Given the description of an element on the screen output the (x, y) to click on. 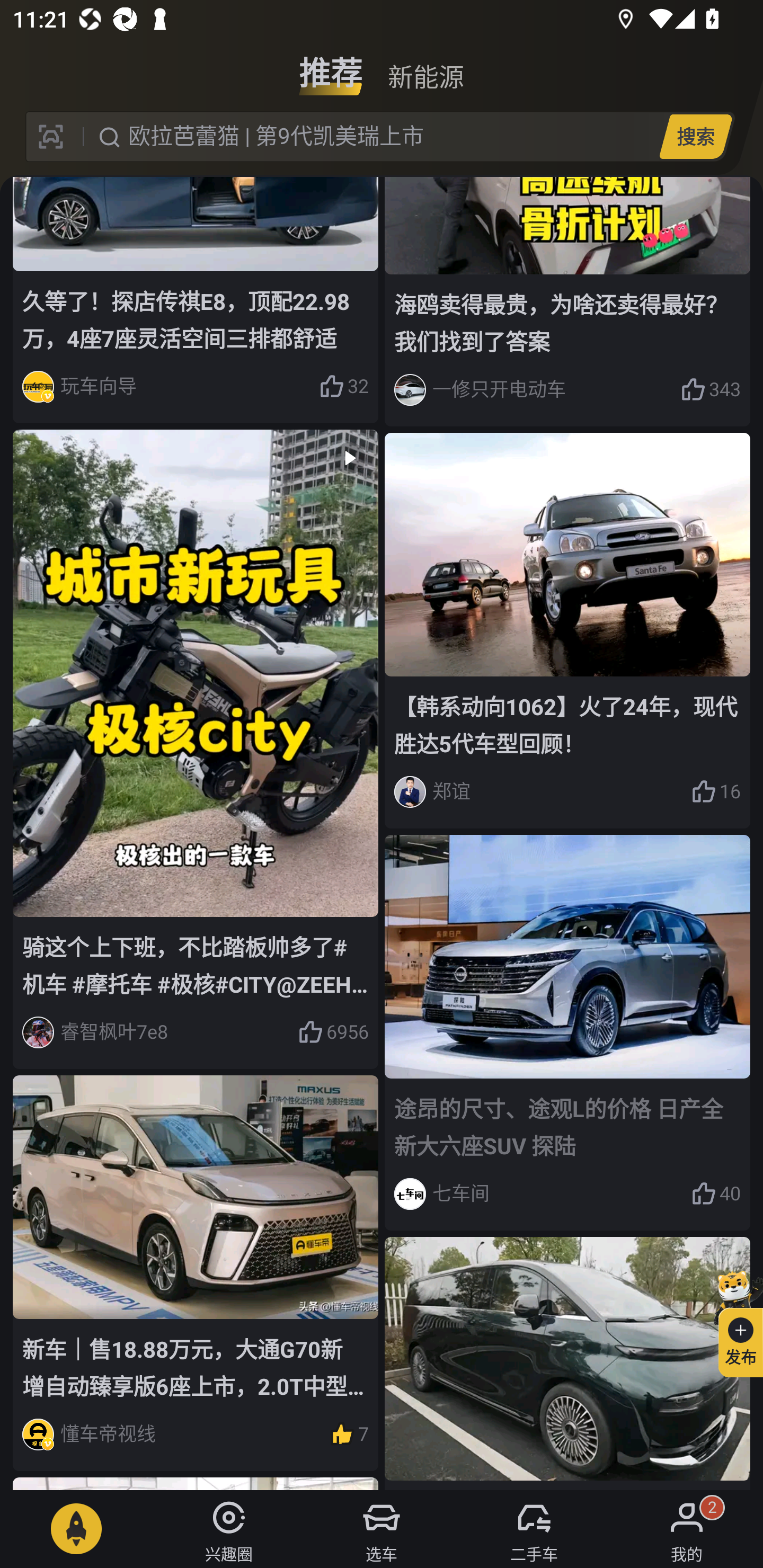
推荐 (330, 65)
新能源 (425, 65)
搜索 (695, 136)
久等了！探店传祺E8，顶配22.98万，4座7座灵活空间三排都舒适 玩车向导 32 (195, 300)
海鸥卖得最贵，为啥还卖得最好？我们找到了答案 一修只开电动车 343 (567, 301)
32 (343, 386)
343 (710, 389)
【韩系动向1062】火了24年，现代胜达5代车型回顾！ 郑谊 16 (567, 629)
16 (715, 791)
途昂的尺寸、途观L的价格 日产全新大六座SUV 探陆 七车间 40 (567, 1032)
6956 (332, 1032)
新车｜售18.88万元，大通G70新增自动臻享版6座上市，2.0T中型MPV 懂车帝视线 7 (195, 1272)
40 (715, 1193)
发布 (732, 1321)
7 (348, 1434)
 兴趣圈 (228, 1528)
 选车 (381, 1528)
 二手车 (533, 1528)
 我的 (686, 1528)
